Given the description of an element on the screen output the (x, y) to click on. 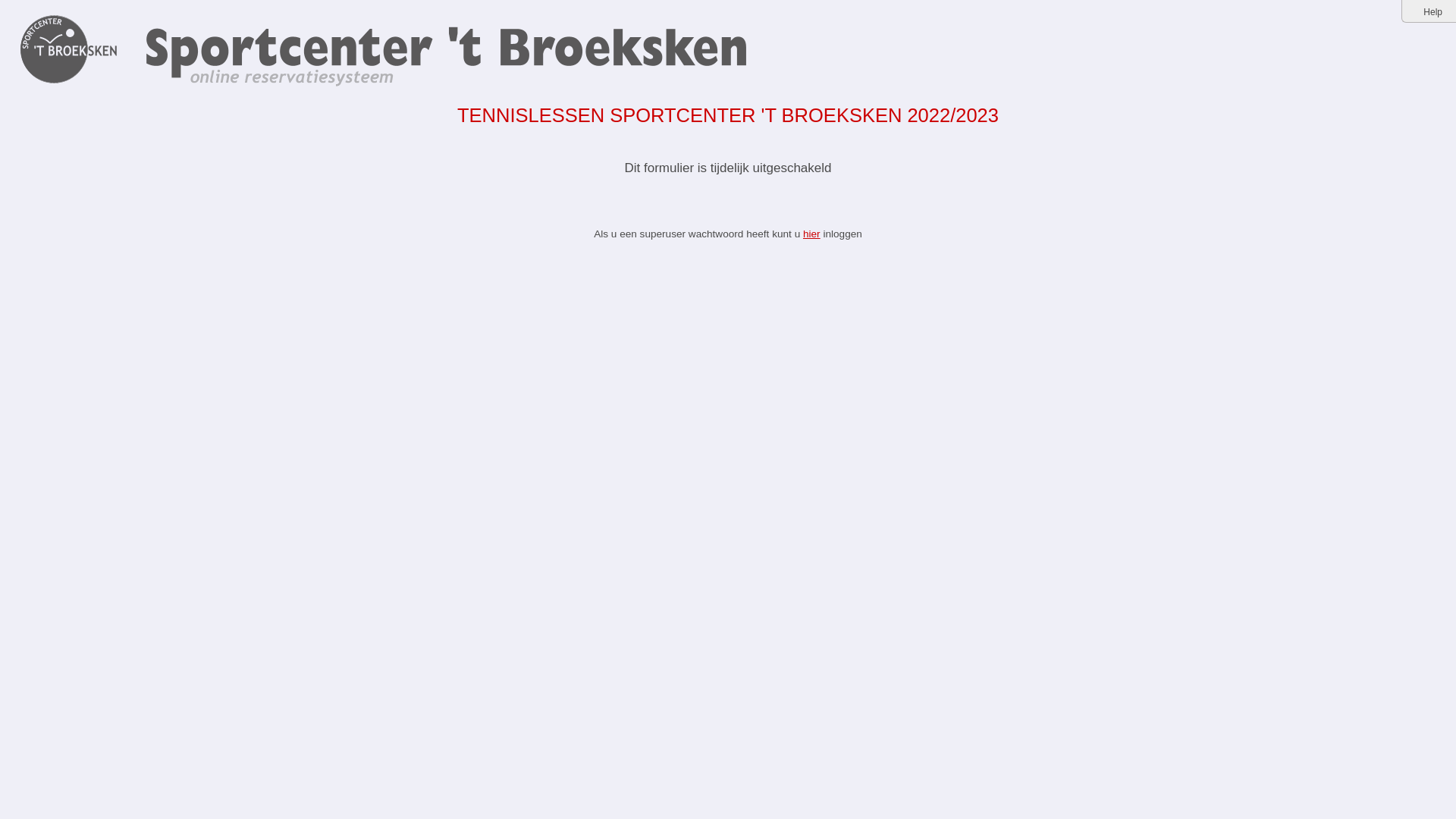
Help Element type: text (1432, 11)
hier Element type: text (811, 233)
